Given the description of an element on the screen output the (x, y) to click on. 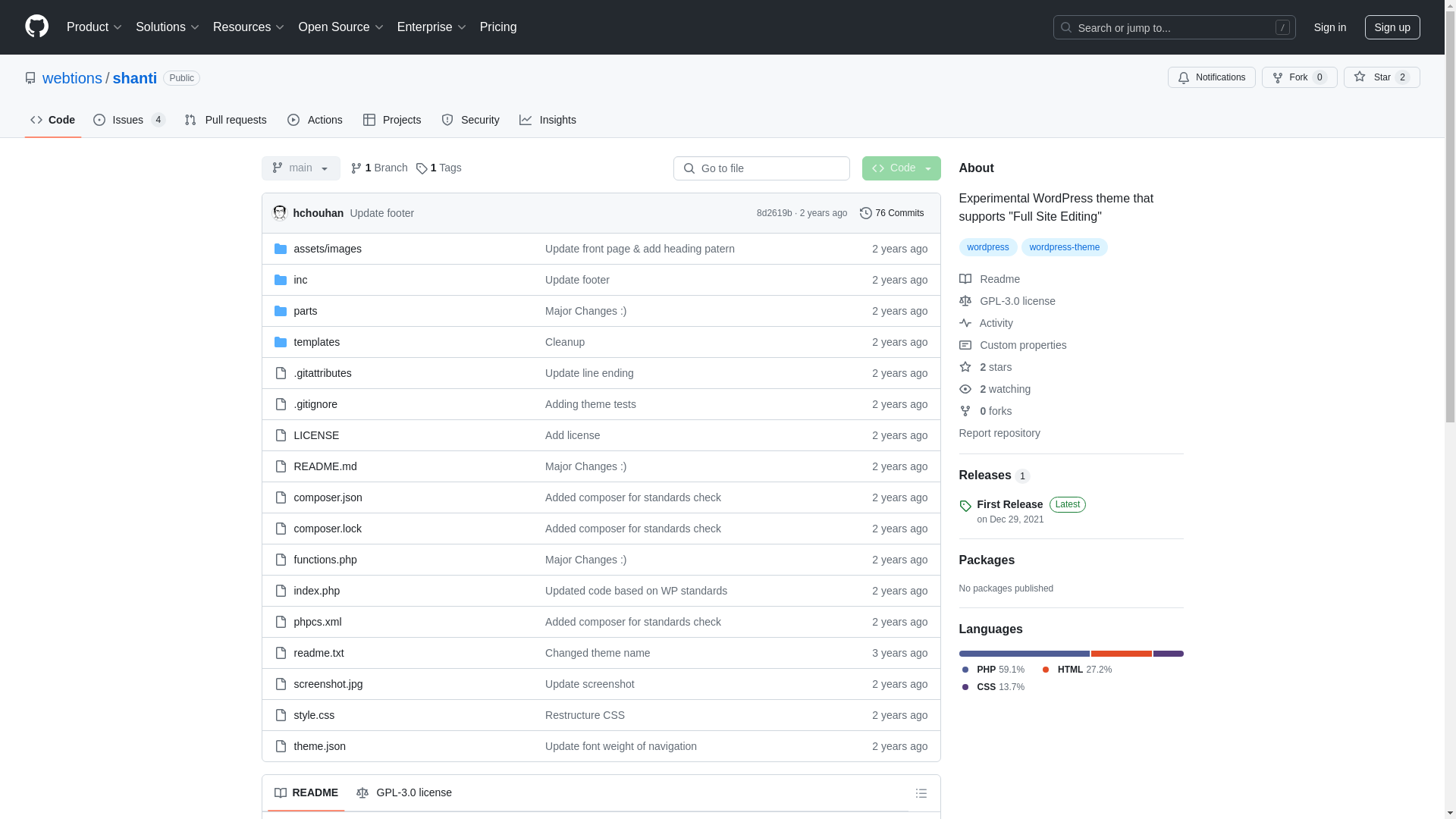
Solutions (167, 27)
Update footer (577, 278)
2 (1402, 77)
This path skips through empty directories (328, 248)
Open Source (341, 27)
Product (95, 27)
4 (159, 119)
Resources (249, 27)
0 (1319, 77)
inc (300, 278)
